Given the description of an element on the screen output the (x, y) to click on. 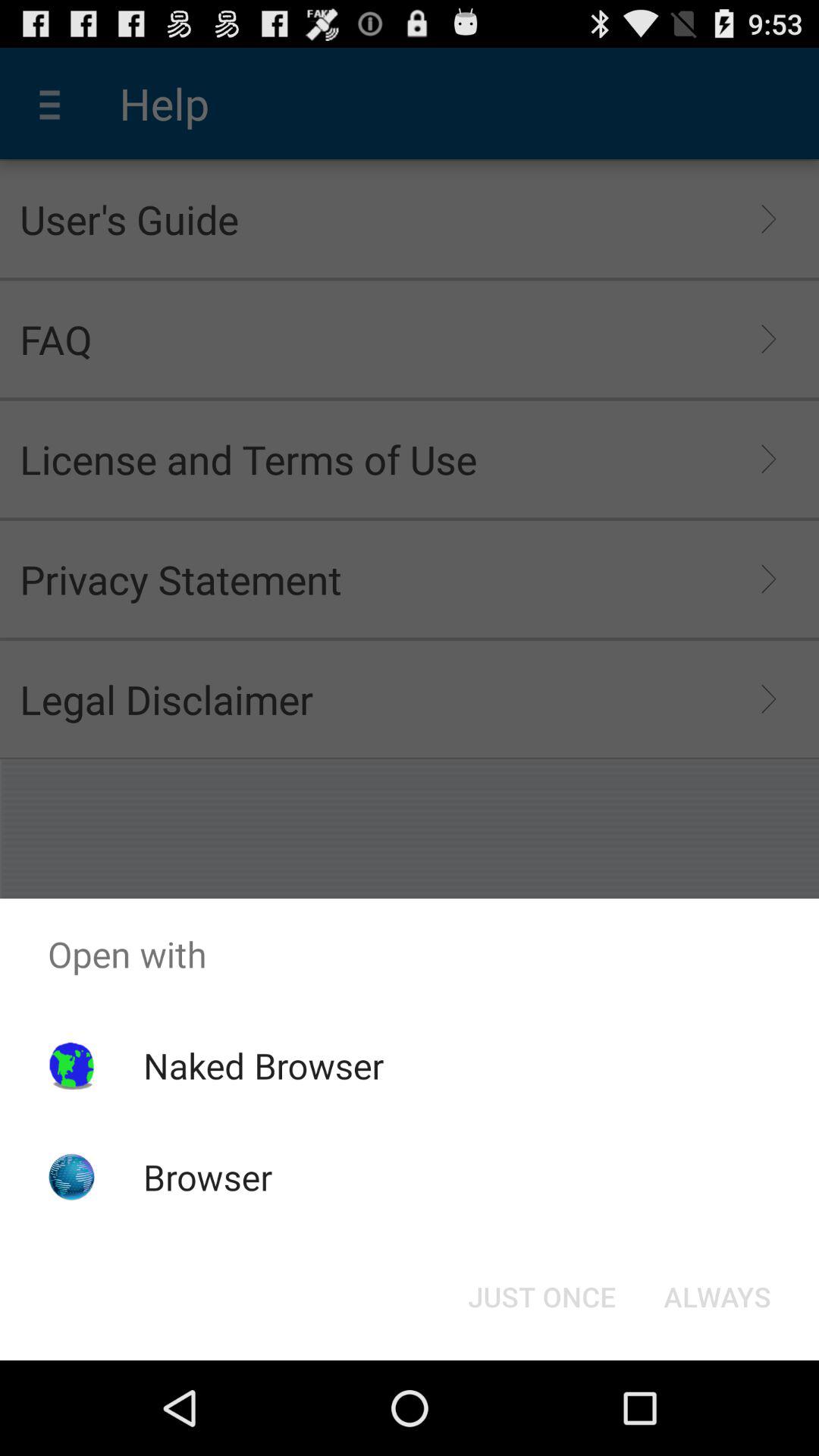
click button at the bottom right corner (717, 1296)
